Given the description of an element on the screen output the (x, y) to click on. 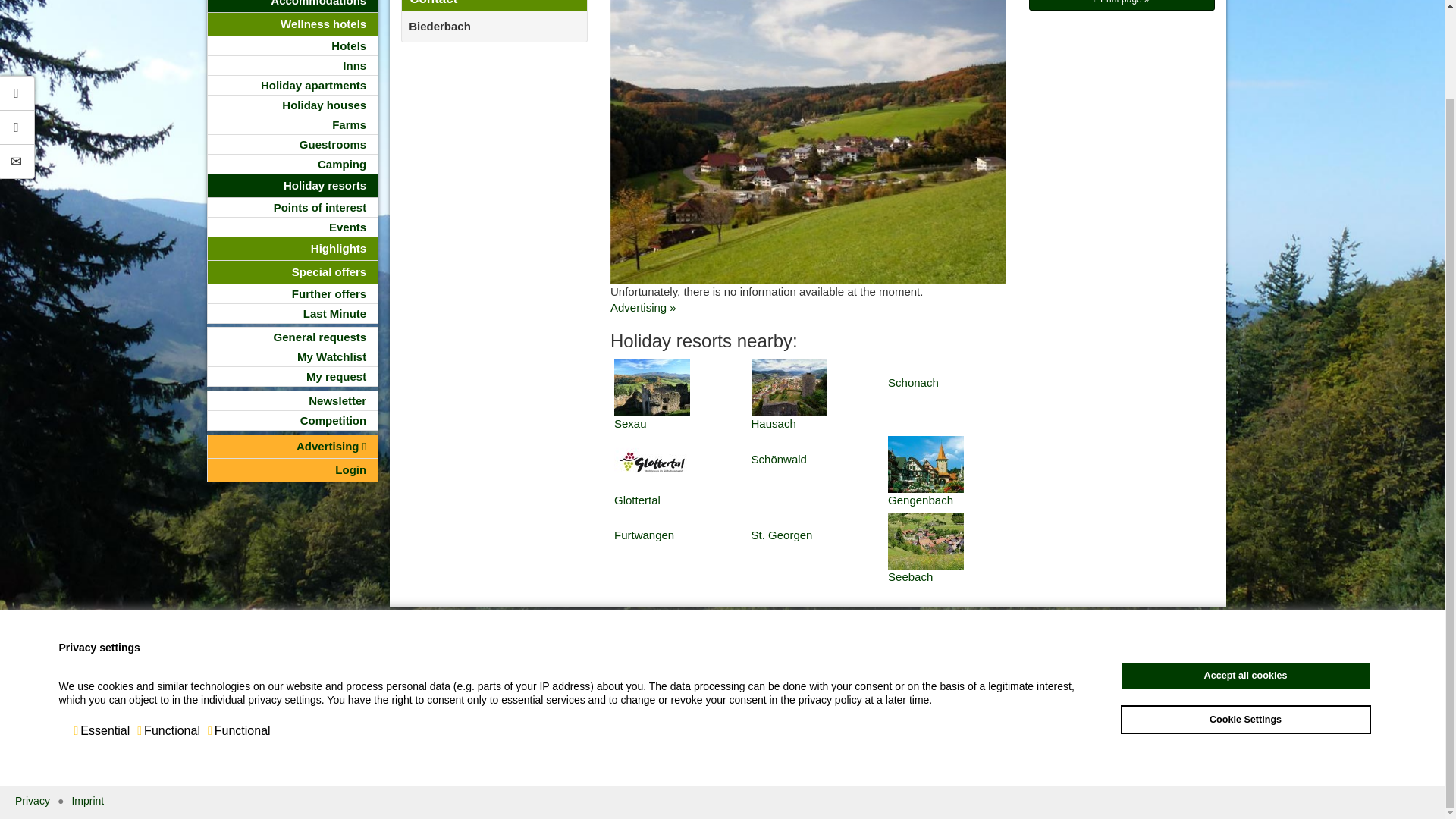
Accommodations (292, 6)
Cookie Settings (1246, 617)
My Watchlist (292, 356)
Guestrooms (292, 144)
Points of interest (292, 207)
Holiday houses (292, 105)
General requests (292, 336)
Last Minute (292, 313)
Inns (292, 65)
Hotels (292, 46)
Further offers (292, 293)
Accept all cookies (1246, 573)
Privacy (31, 698)
Special offers (292, 272)
Events (292, 227)
